Given the description of an element on the screen output the (x, y) to click on. 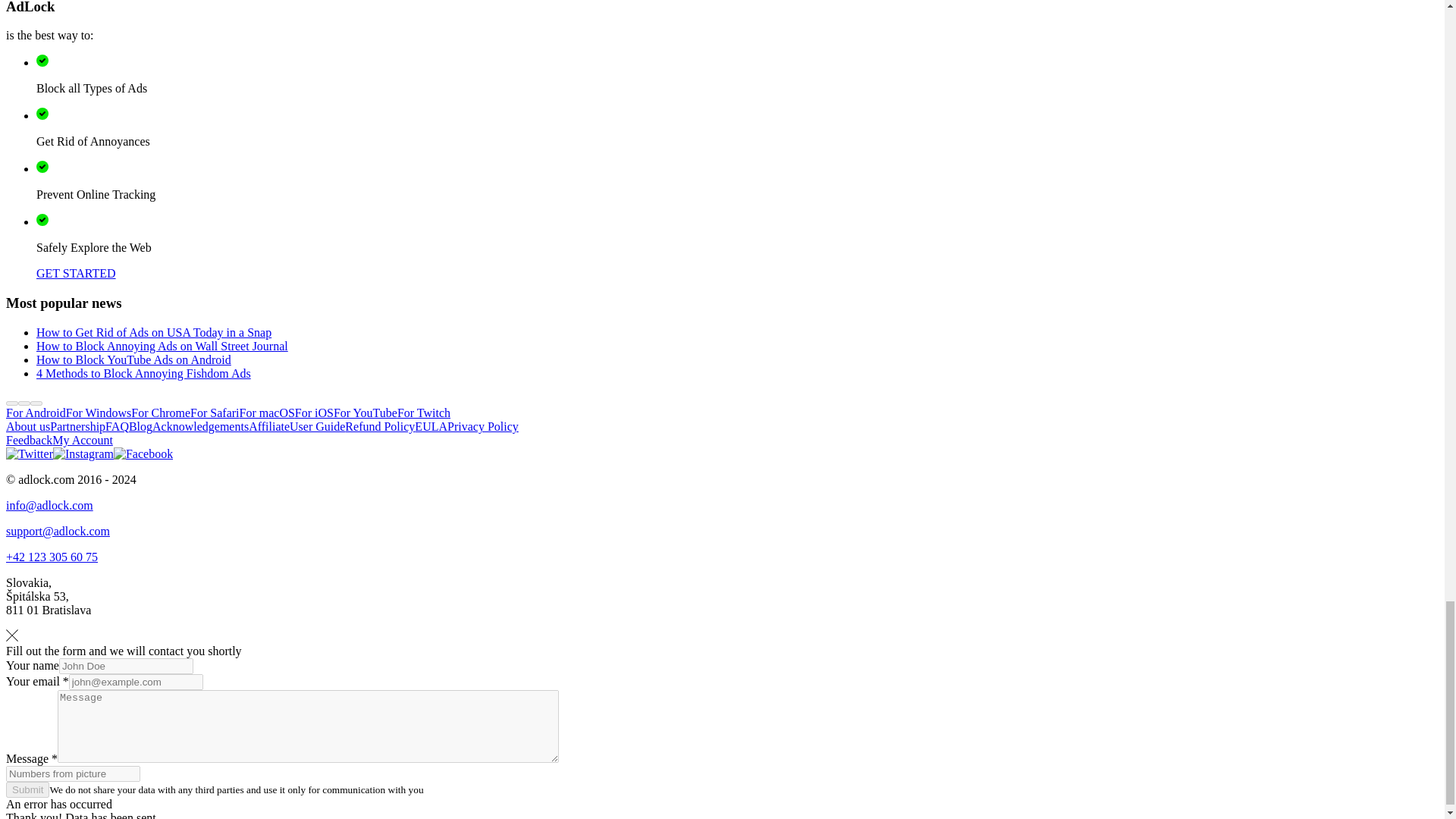
Submit (27, 789)
Privacy Policy (482, 426)
EULA (430, 426)
